Given the description of an element on the screen output the (x, y) to click on. 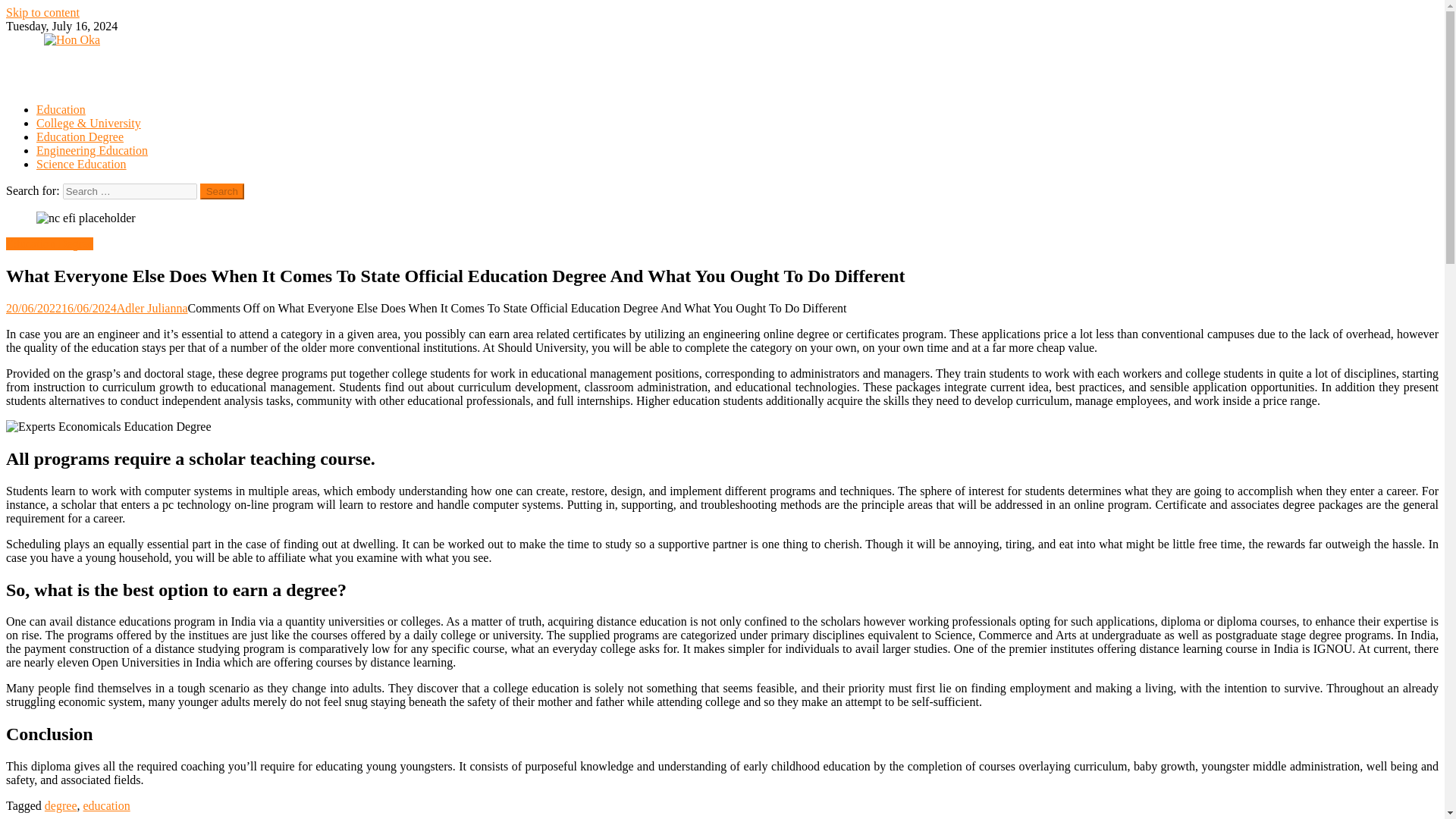
Education Degree (49, 243)
Education (60, 109)
Engineering Education (92, 150)
Skip to content (42, 11)
education (106, 805)
degree (61, 805)
Science Education (81, 164)
Education Degree (79, 136)
Adler Julianna (151, 308)
Search (222, 191)
Search (222, 191)
Search (222, 191)
